Given the description of an element on the screen output the (x, y) to click on. 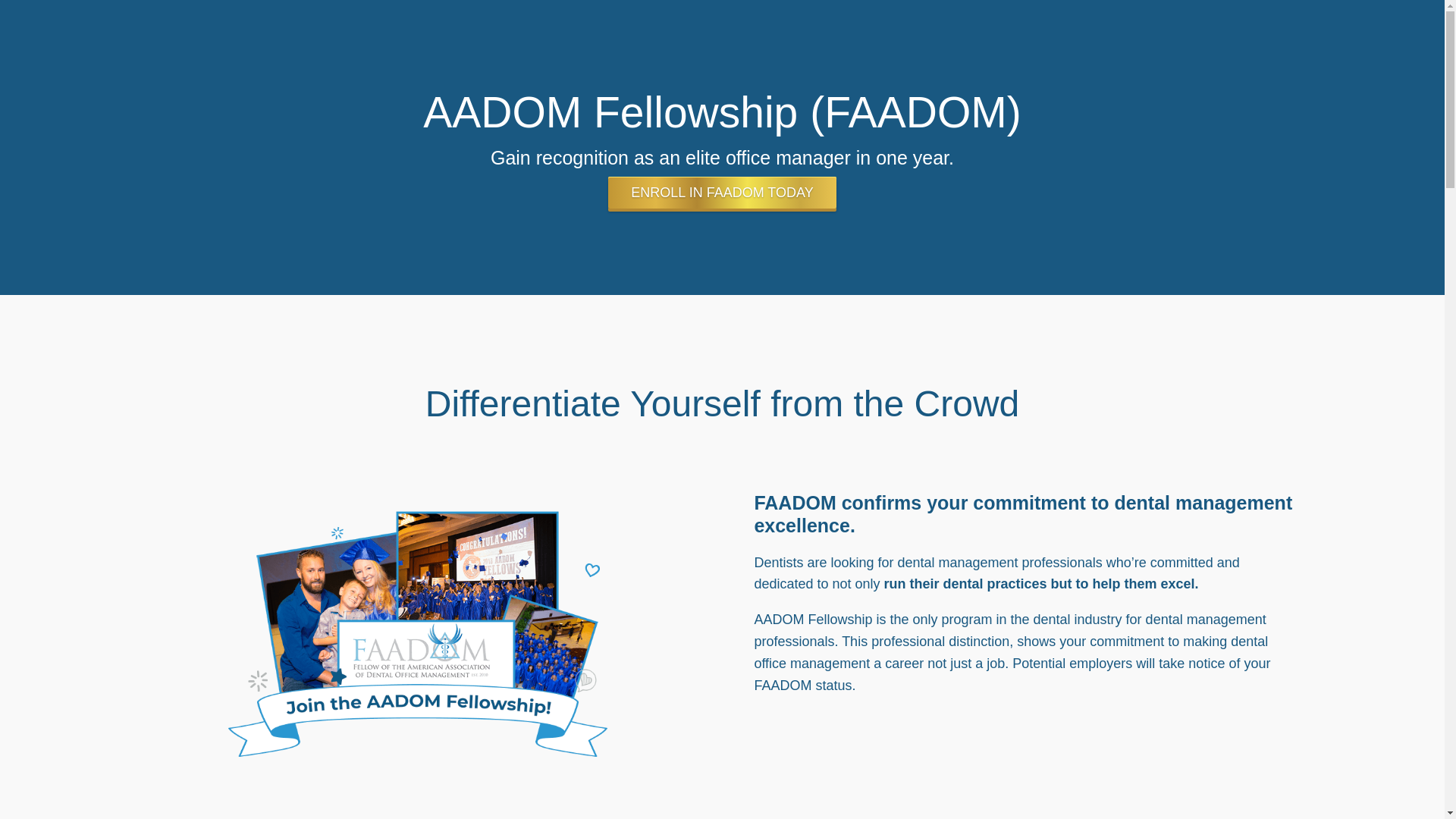
ENROLL IN FAADOM TODAY (721, 210)
Be part of the AADOM Fellowship Program! (379, 609)
